Given the description of an element on the screen output the (x, y) to click on. 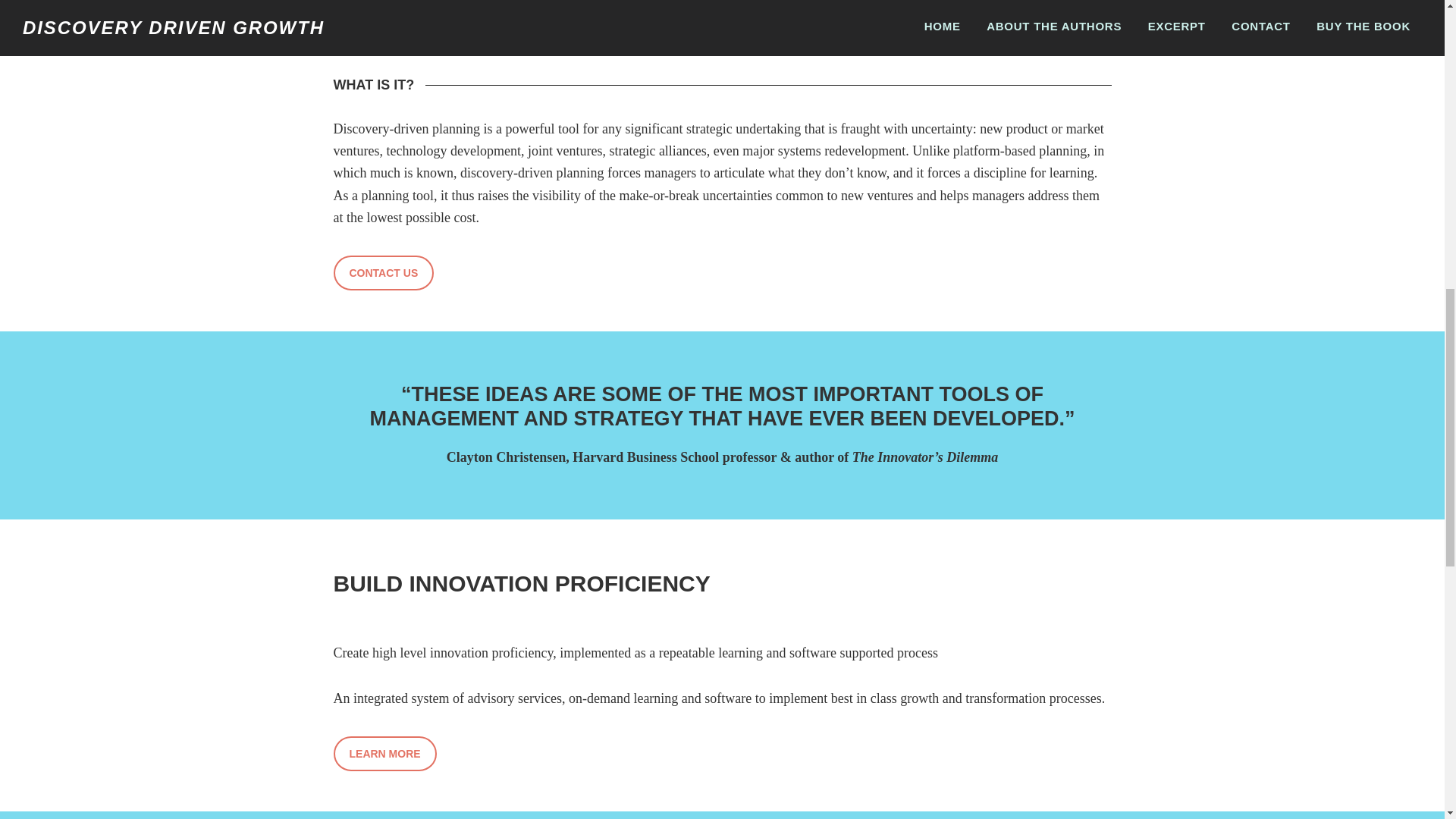
CONTACT US (383, 272)
LEARN MORE (384, 753)
Contact (383, 272)
